Given the description of an element on the screen output the (x, y) to click on. 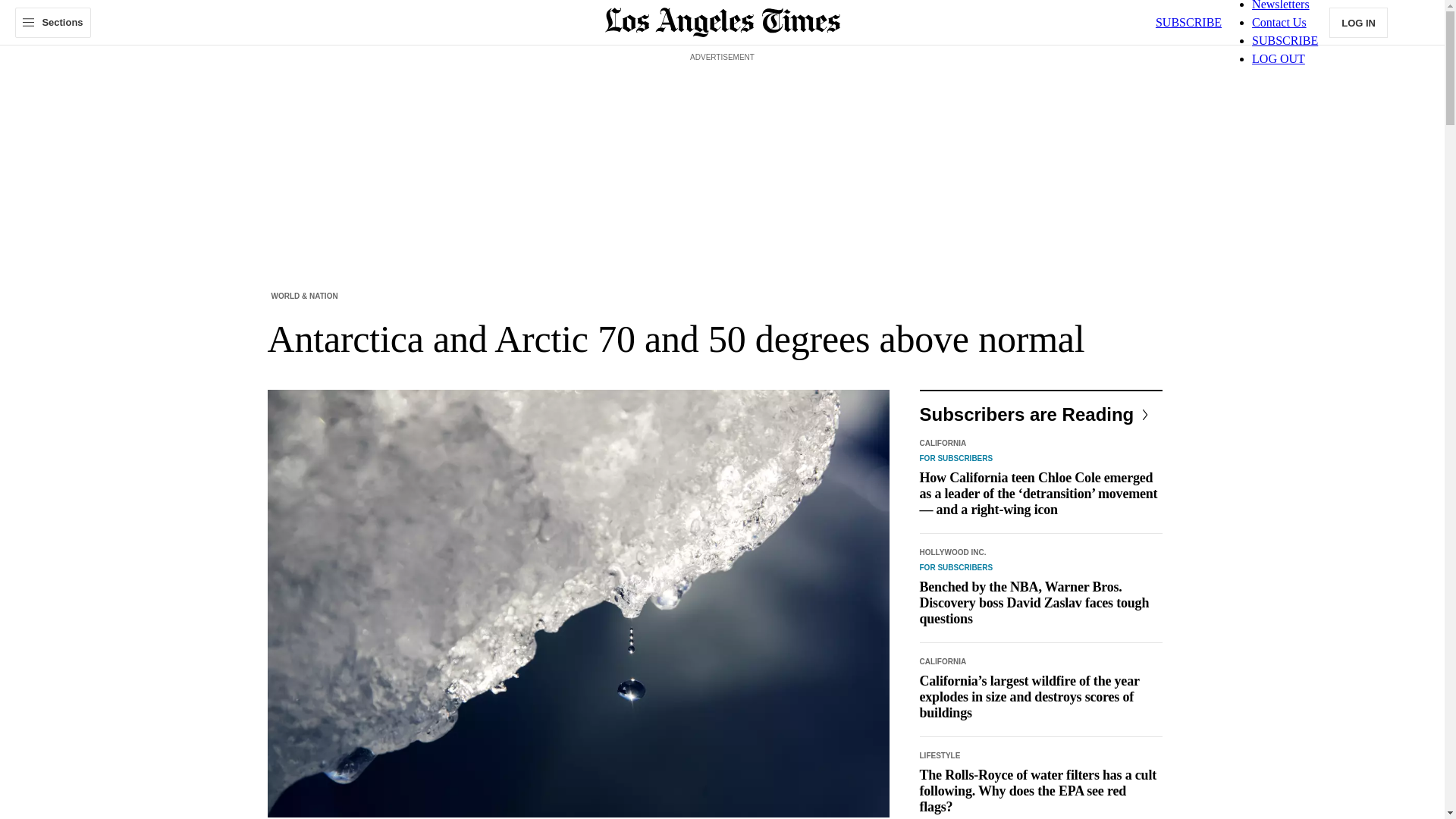
3rd party ad content (721, 100)
